Given the description of an element on the screen output the (x, y) to click on. 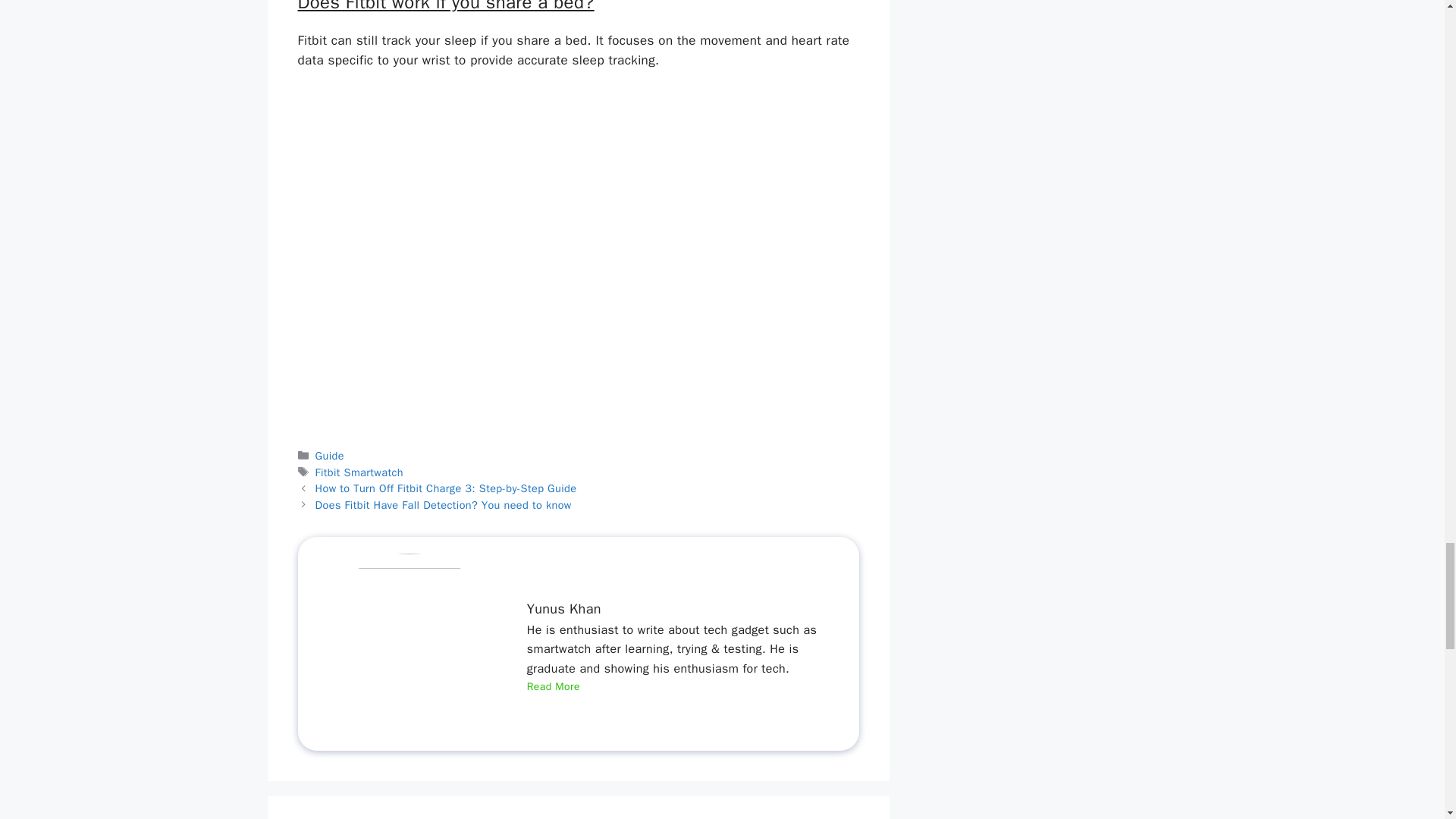
Fitbit Smartwatch (359, 472)
Does Fitbit Have Fall Detection? You need to know (443, 504)
How to Turn Off Fitbit Charge 3: Step-by-Step Guide (445, 488)
Guide (329, 455)
Read More (553, 686)
